Given the description of an element on the screen output the (x, y) to click on. 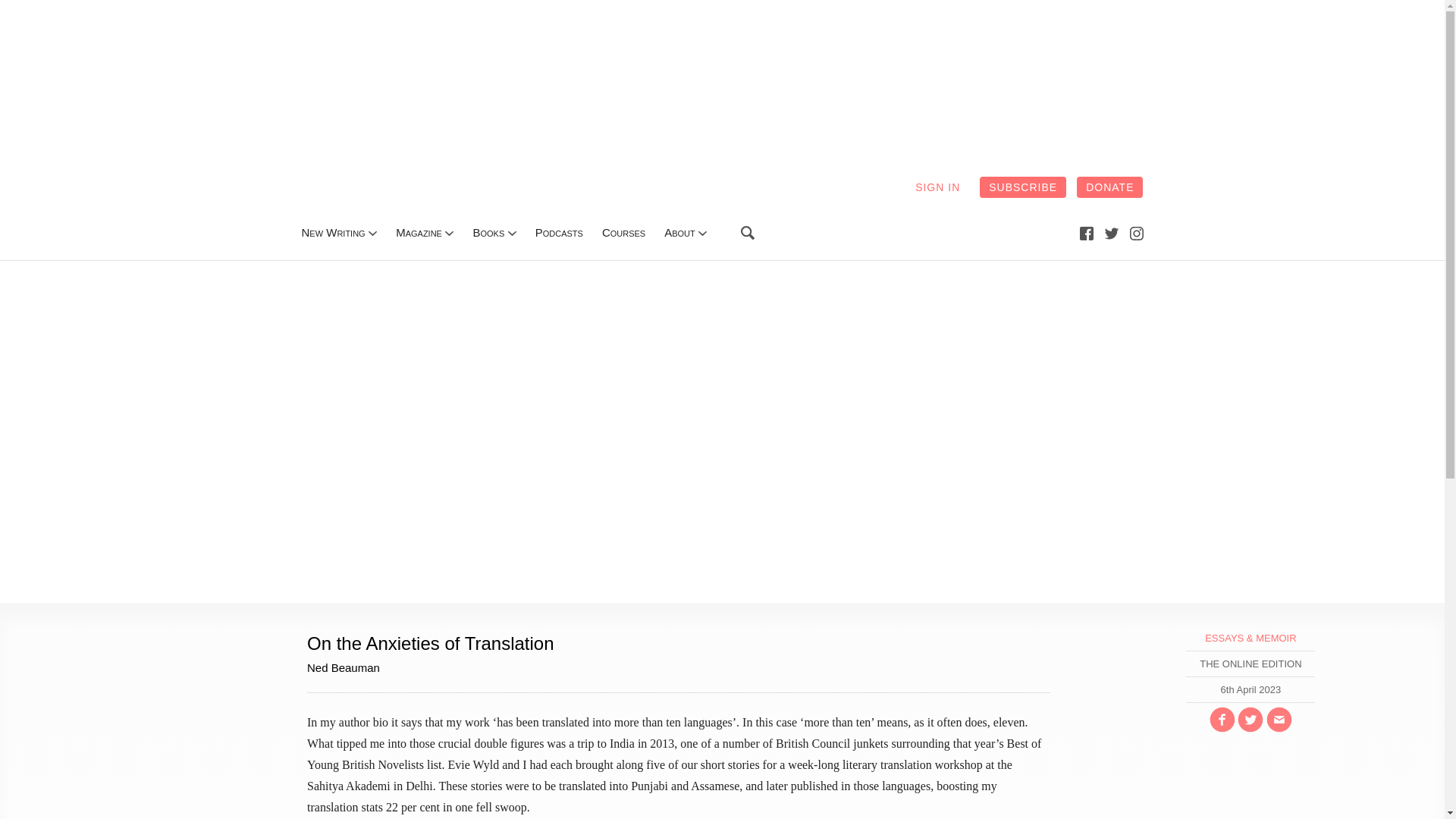
facebook Created with Sketch. (1086, 232)
podcasts (559, 232)
Magazine (419, 232)
videos (623, 232)
Courses (623, 232)
twitter-with-circle Created with Sketch. (1250, 719)
instagram Created with Sketch. (1135, 233)
DONATE (1109, 187)
magazine (419, 232)
twitter Created with Sketch. (1111, 232)
SIGN IN (937, 187)
twitter Created with Sketch. (1111, 233)
books (487, 232)
Podcasts (559, 232)
New Writing (333, 232)
